Given the description of an element on the screen output the (x, y) to click on. 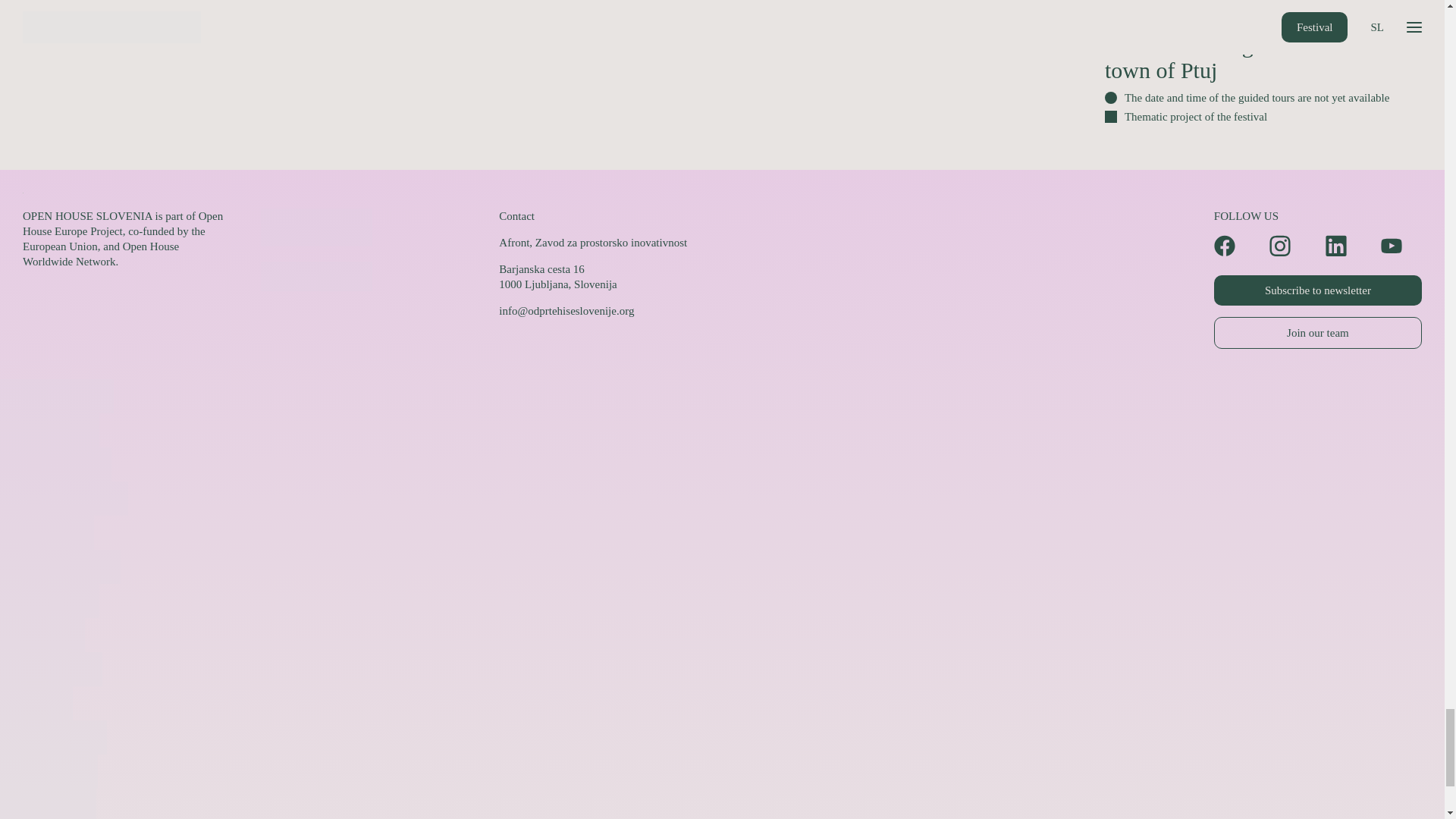
Facebook (1234, 245)
Youtube (1401, 245)
Linkedin (1345, 245)
Instagram (1289, 245)
